Given the description of an element on the screen output the (x, y) to click on. 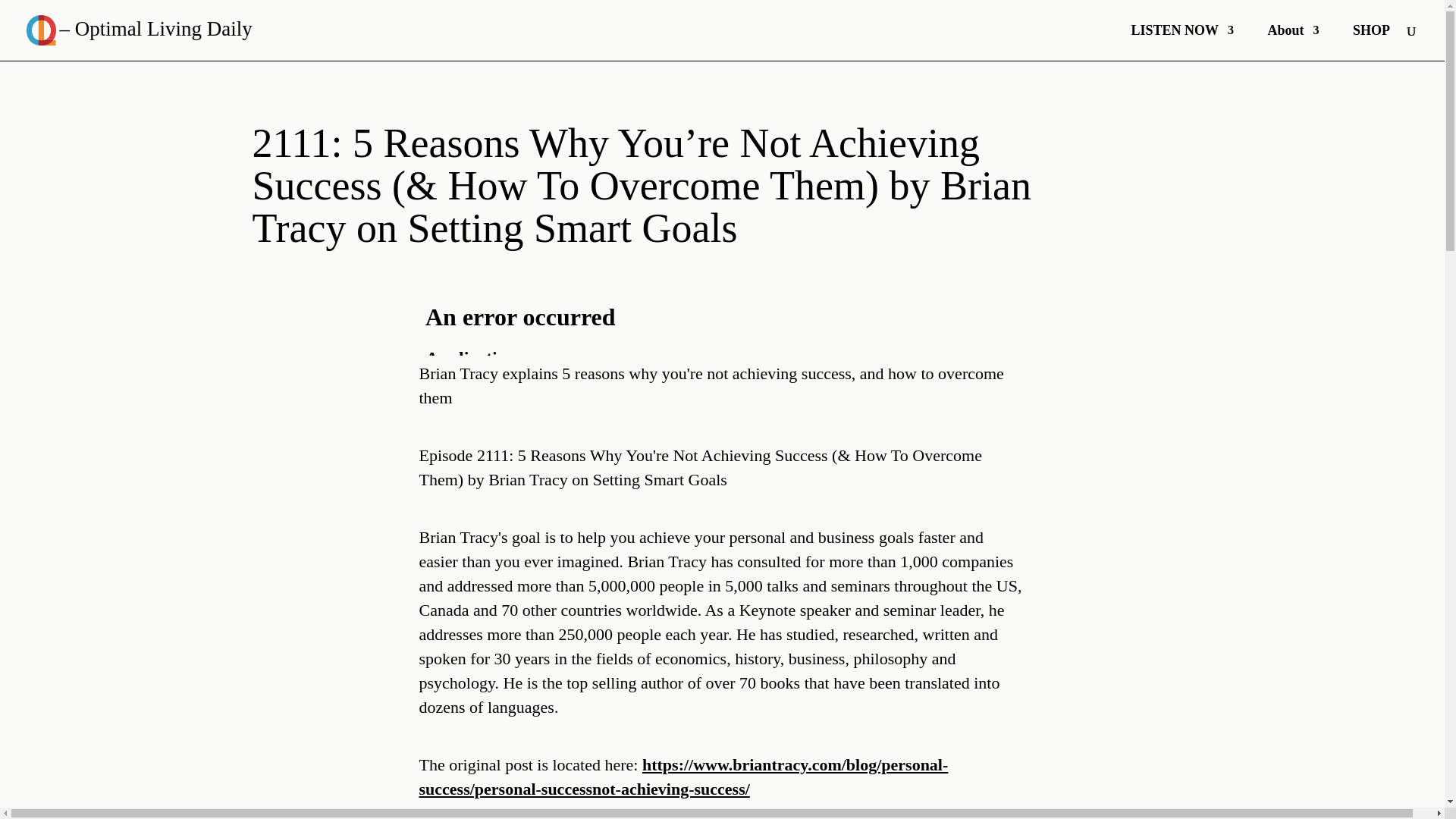
About (1292, 42)
SHOP (1371, 42)
LISTEN NOW (1182, 42)
